Given the description of an element on the screen output the (x, y) to click on. 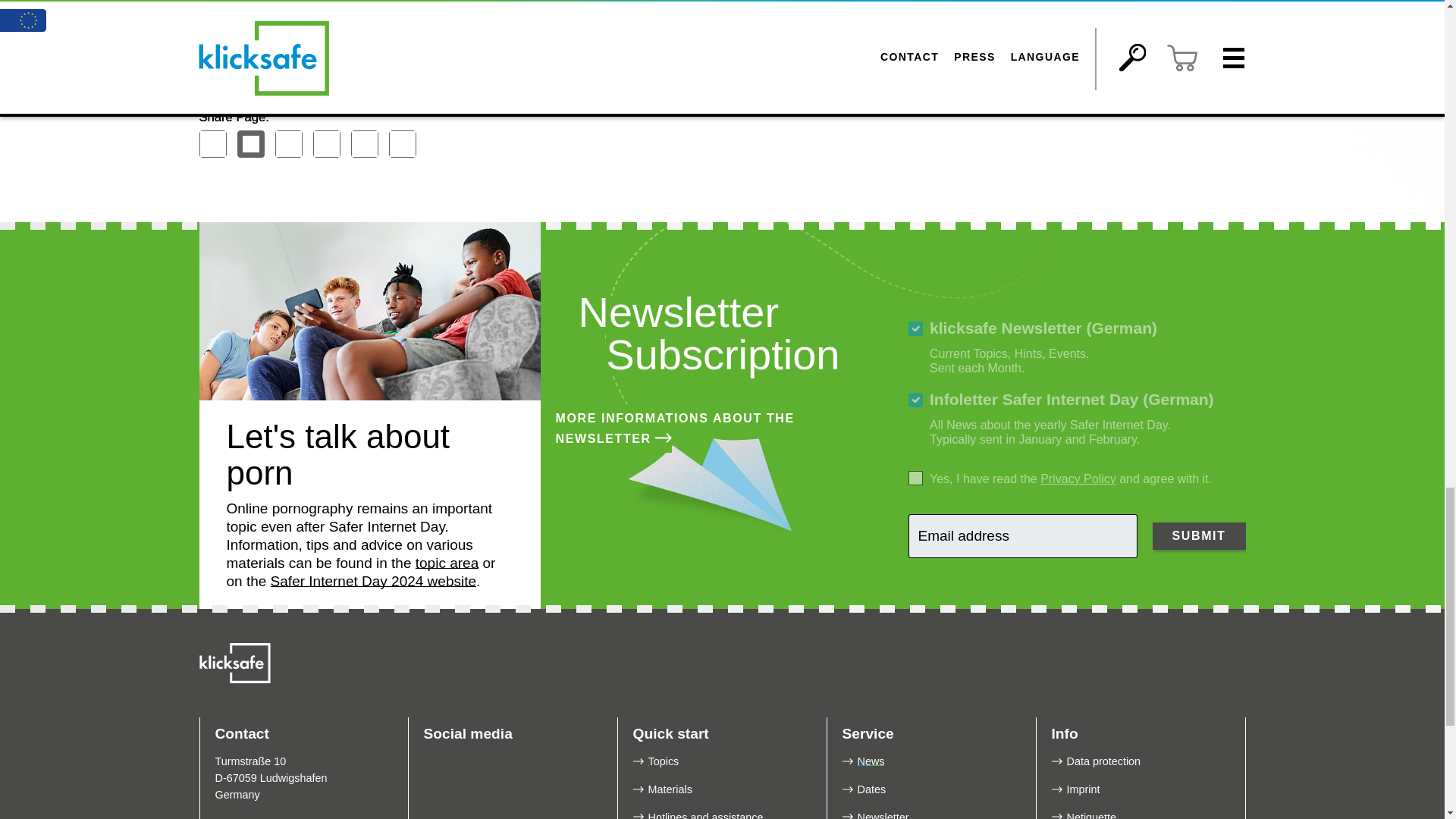
Share on X (249, 144)
Share on Whatsapp (363, 144)
Send by email (401, 144)
1 (915, 328)
Share on Threema (326, 144)
1 (915, 400)
Let's talk about porn (369, 310)
Share on Telegram (288, 144)
Share on Facebook (211, 144)
1 (915, 477)
